Given the description of an element on the screen output the (x, y) to click on. 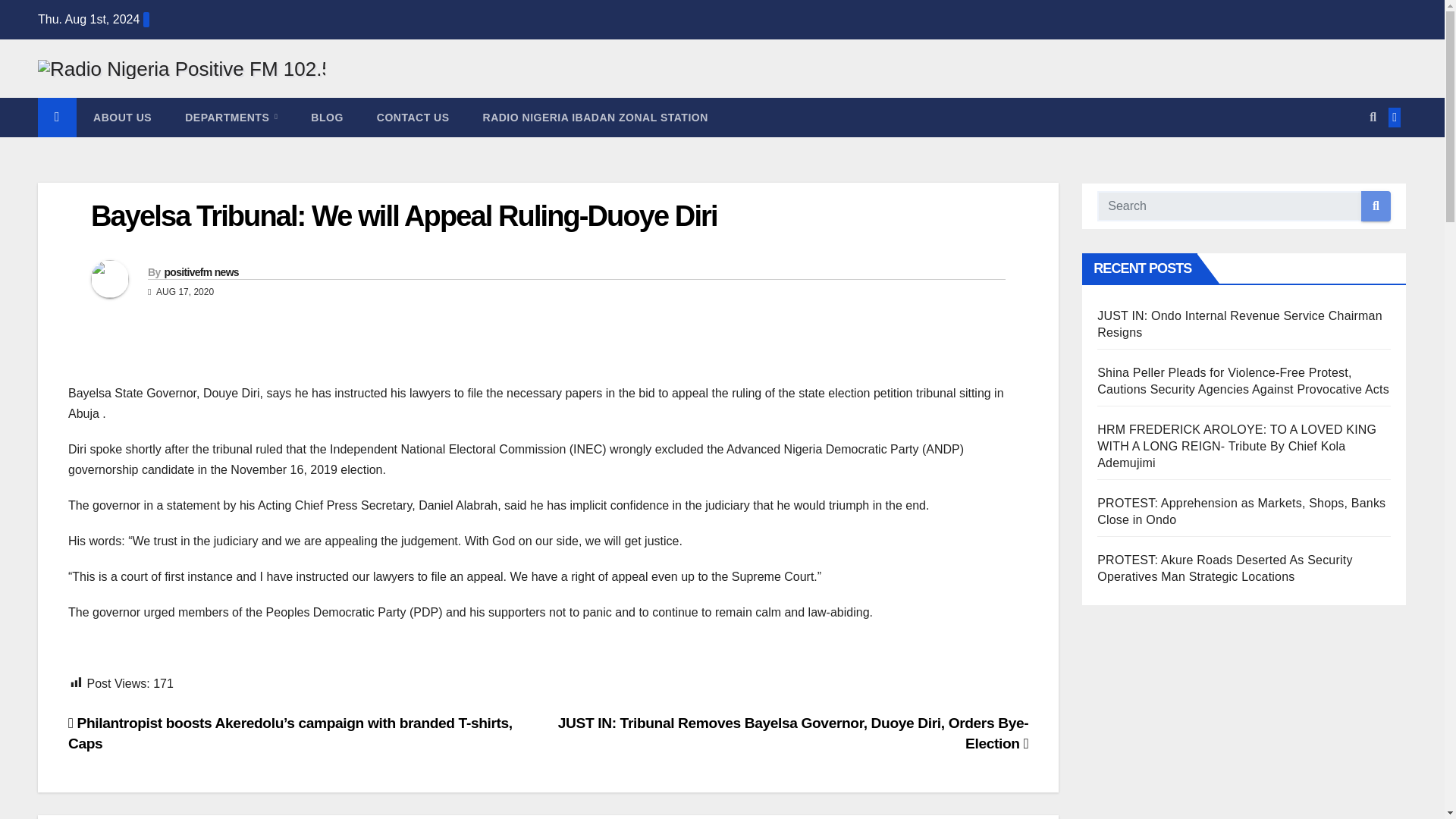
Radio Nigeria Ibadan Zonal Station (595, 434)
positivefm news (200, 589)
Contact us (412, 434)
Departments (231, 434)
DEPARTMENTS (231, 434)
RADIO NIGERIA IBADAN ZONAL STATION (595, 434)
CONTACT US (412, 434)
About us (122, 434)
Bayelsa Tribunal: We will Appeal Ruling-Duoye Diri (403, 532)
BLOG (326, 434)
ABOUT US (122, 434)
Blog (326, 434)
